Given the description of an element on the screen output the (x, y) to click on. 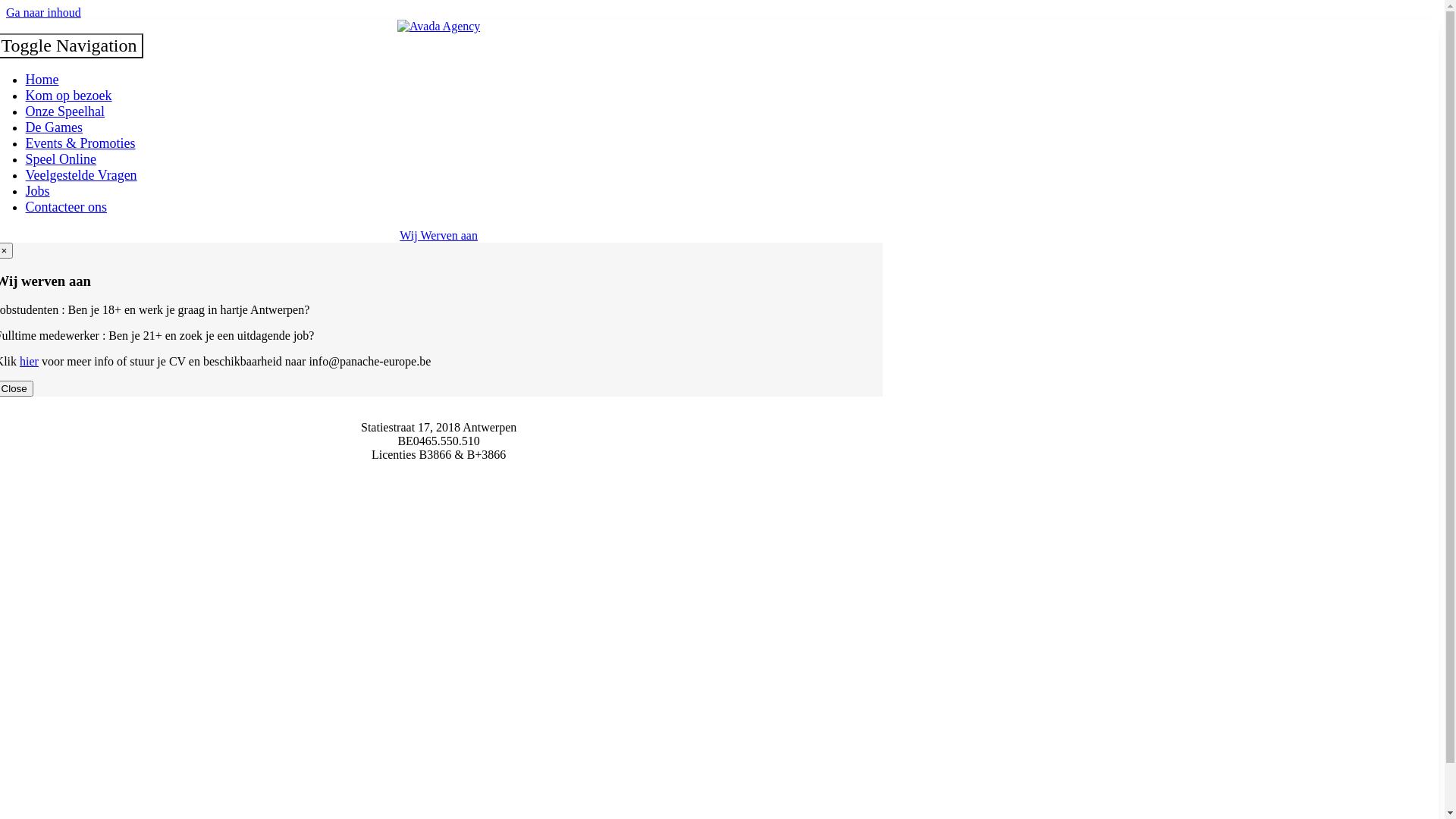
Jobs Element type: text (37, 186)
Kom op bezoek Element type: text (68, 90)
Veelgestelde Vragen Element type: text (81, 170)
Onze Speelhal Element type: text (64, 106)
Ga naar inhoud Element type: text (43, 12)
hier Element type: text (28, 360)
Contacteer ons Element type: text (65, 202)
Wij Werven aan Element type: text (438, 235)
Home Element type: text (42, 74)
De Games Element type: text (53, 122)
Speel Online Element type: text (60, 154)
Events & Promoties Element type: text (80, 138)
